Given the description of an element on the screen output the (x, y) to click on. 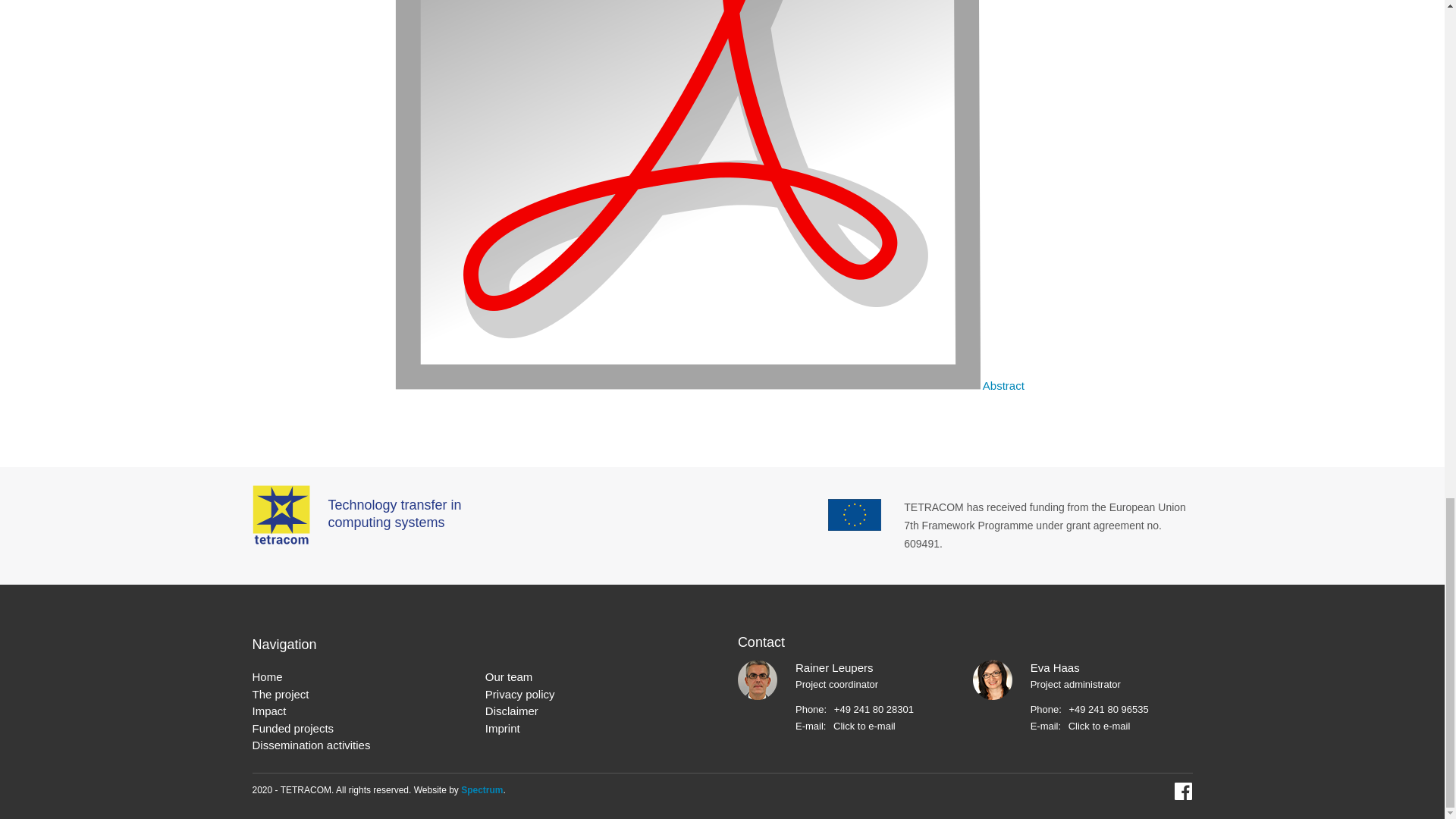
Click to e-mail (1099, 726)
Spectrum (481, 789)
Disclaimer (511, 711)
Dissemination activities (310, 745)
The project (279, 694)
Abstract (1003, 385)
Funded projects (292, 728)
Imprint (501, 728)
Our team (508, 677)
Facebook (1183, 791)
Home (266, 677)
Privacy policy (519, 694)
Click to e-mail (863, 726)
Impact (268, 711)
TETRACOM (279, 514)
